Given the description of an element on the screen output the (x, y) to click on. 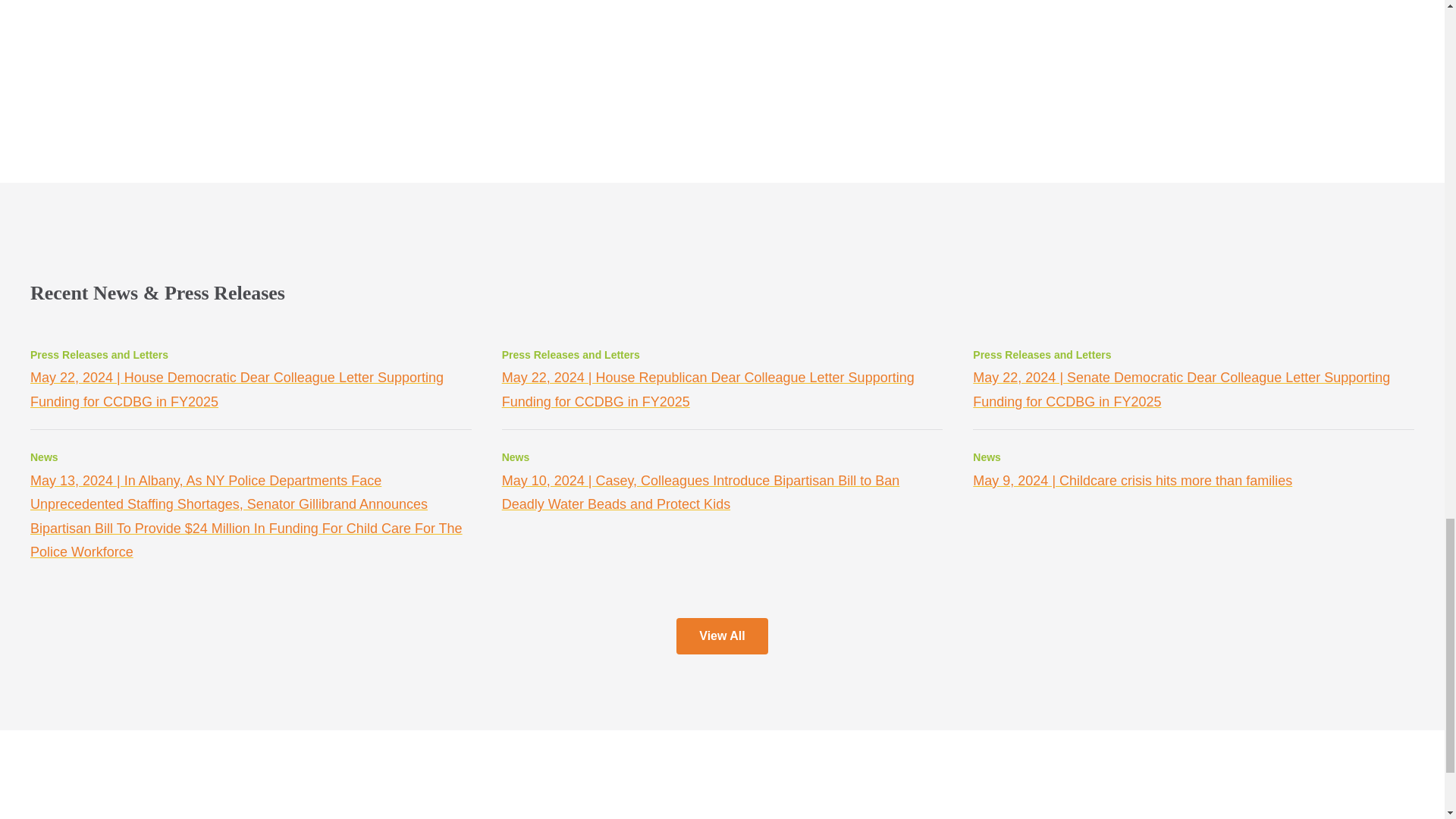
View All (722, 636)
